Given the description of an element on the screen output the (x, y) to click on. 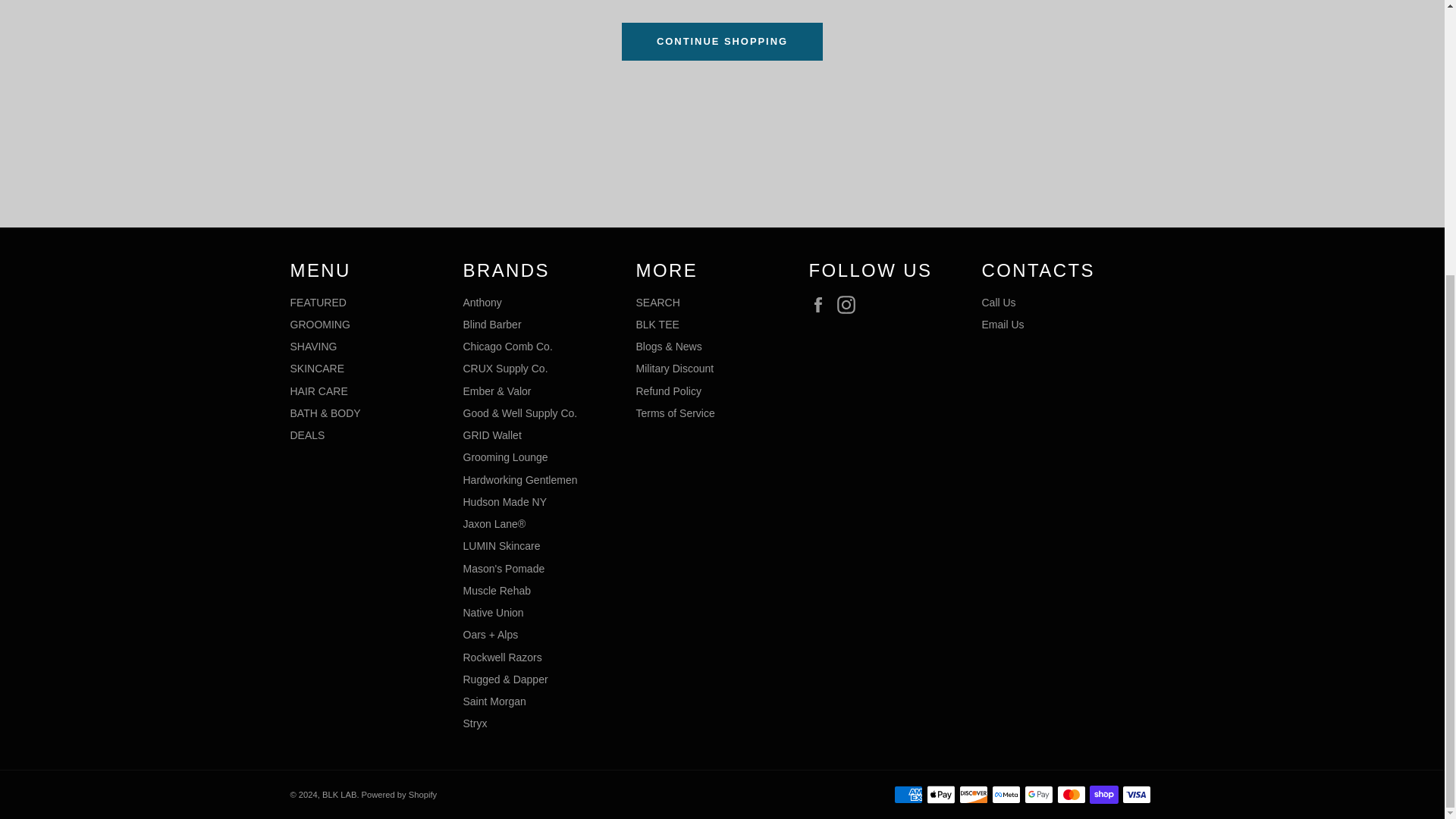
BLK LAB on Facebook (821, 304)
BLK LAB on Instagram (850, 304)
tel:702-333-8952 (997, 302)
